Given the description of an element on the screen output the (x, y) to click on. 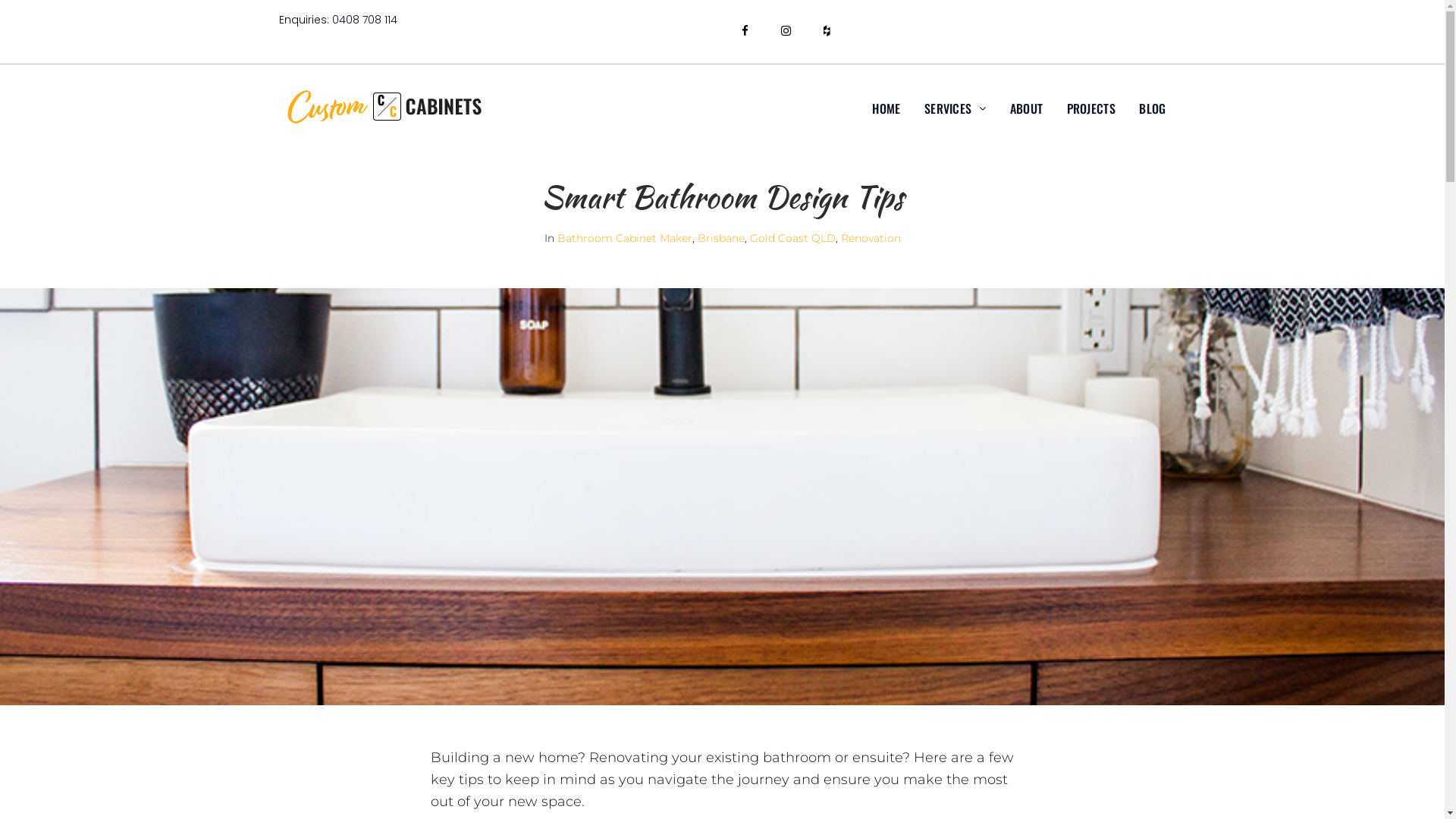
PROJECTS Element type: text (1090, 108)
Bathroom Cabinet Maker Element type: text (623, 237)
Gold Coast QLD Element type: text (791, 237)
ABOUT Element type: text (1026, 108)
0408 708 114 Element type: text (364, 19)
Renovation Element type: text (870, 237)
HOME Element type: text (886, 108)
BLOG Element type: text (1152, 108)
Brisbane Element type: text (720, 237)
SERVICES Element type: text (954, 108)
